Given the description of an element on the screen output the (x, y) to click on. 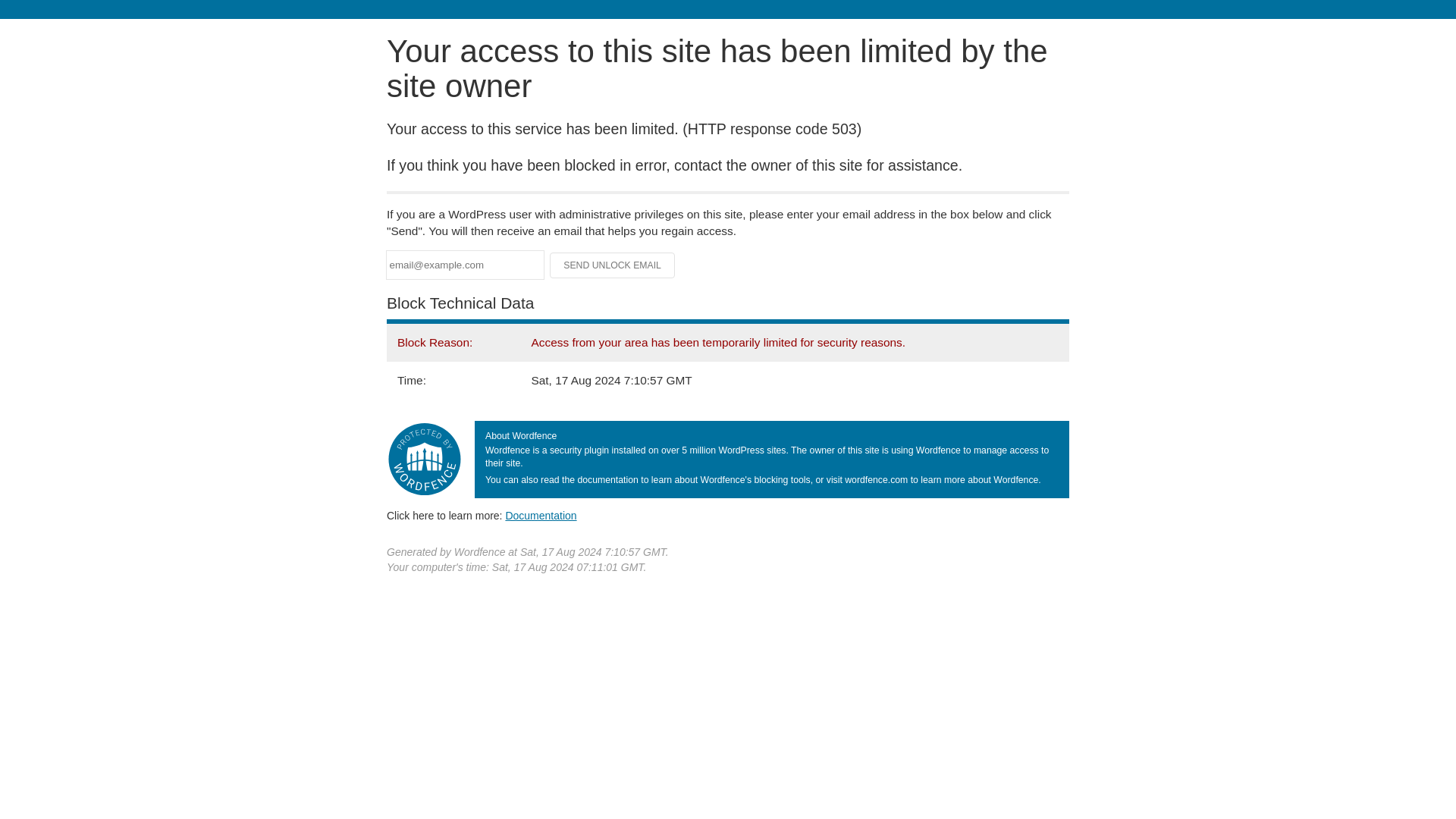
Send Unlock Email (612, 265)
Documentation (540, 515)
Send Unlock Email (612, 265)
